Given the description of an element on the screen output the (x, y) to click on. 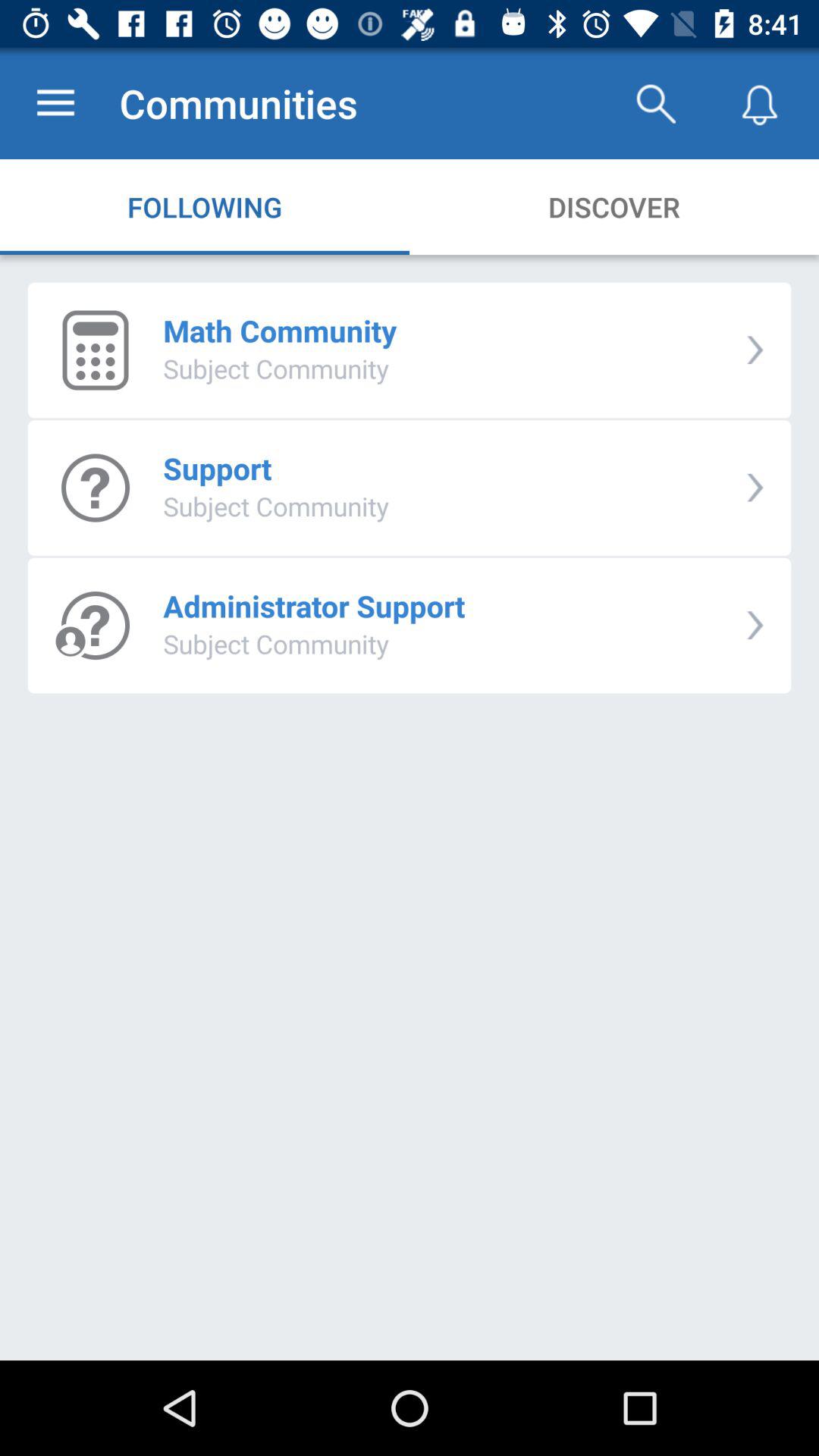
select icon below the subject community item (314, 605)
